Given the description of an element on the screen output the (x, y) to click on. 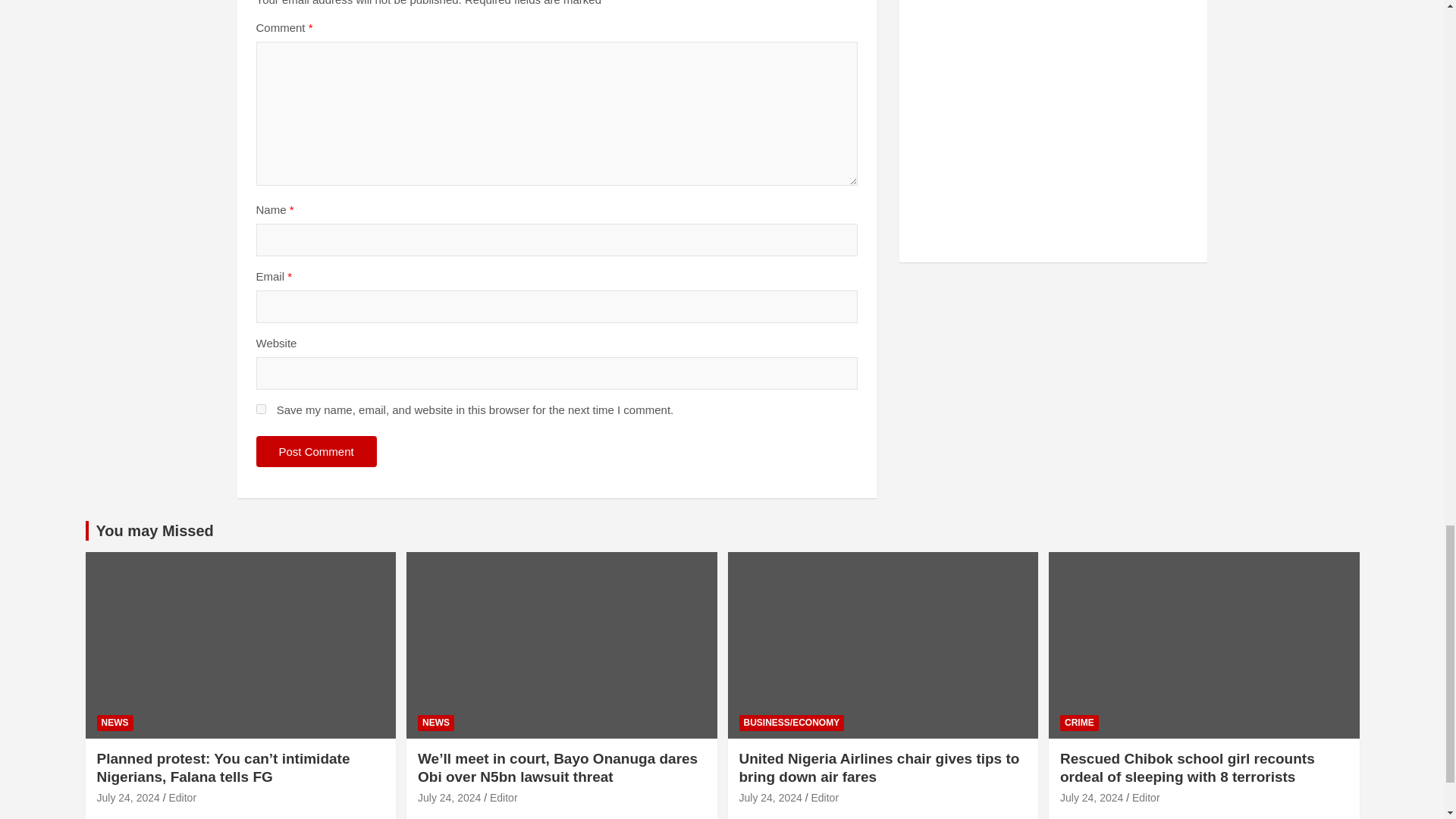
July 24, 2024 (770, 797)
Editor (182, 797)
Post Comment (316, 450)
July 24, 2024 (128, 797)
Editor (824, 797)
July 24, 2024 (448, 797)
yes (261, 409)
Post Comment (316, 450)
Editor (503, 797)
You may Missed (154, 530)
NEWS (115, 722)
NEWS (435, 722)
